Given the description of an element on the screen output the (x, y) to click on. 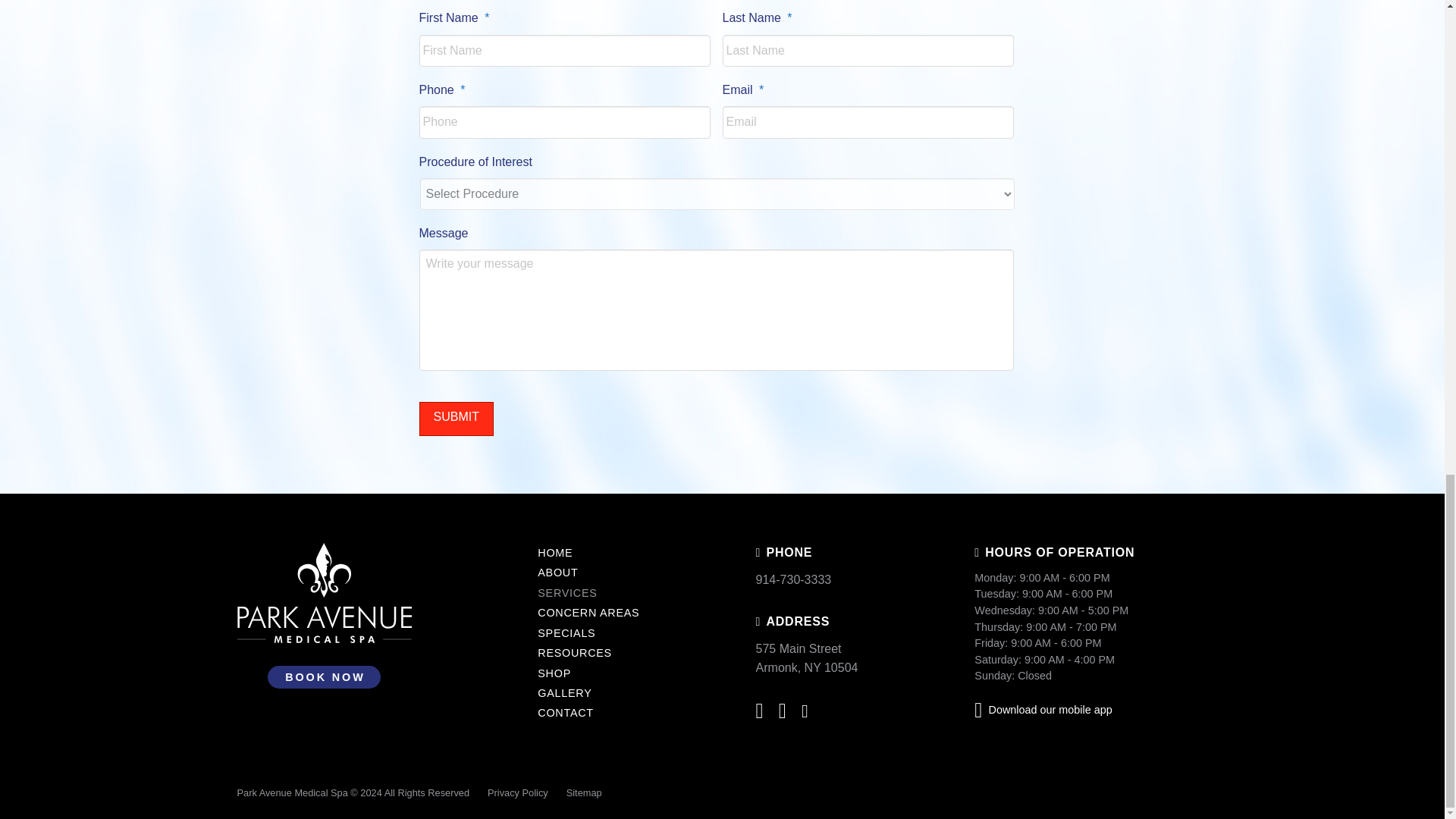
Submit (456, 418)
